Given the description of an element on the screen output the (x, y) to click on. 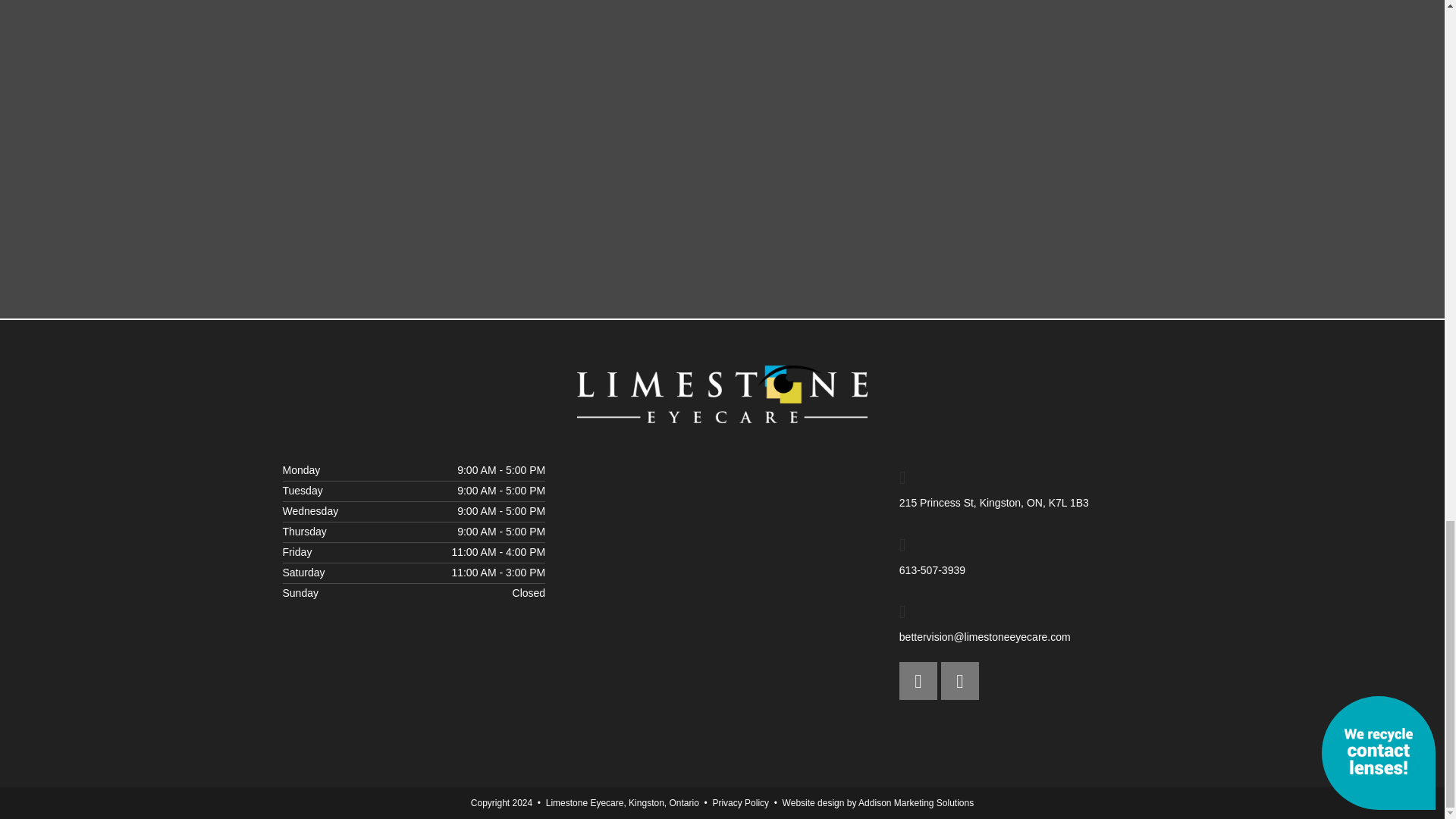
215 Princess St, Kingston, ON, K7L 1B3 (1030, 486)
Privacy Policy (739, 802)
Website design by Addison Marketing Solutions (878, 802)
613-507-3939 (1030, 553)
